Given the description of an element on the screen output the (x, y) to click on. 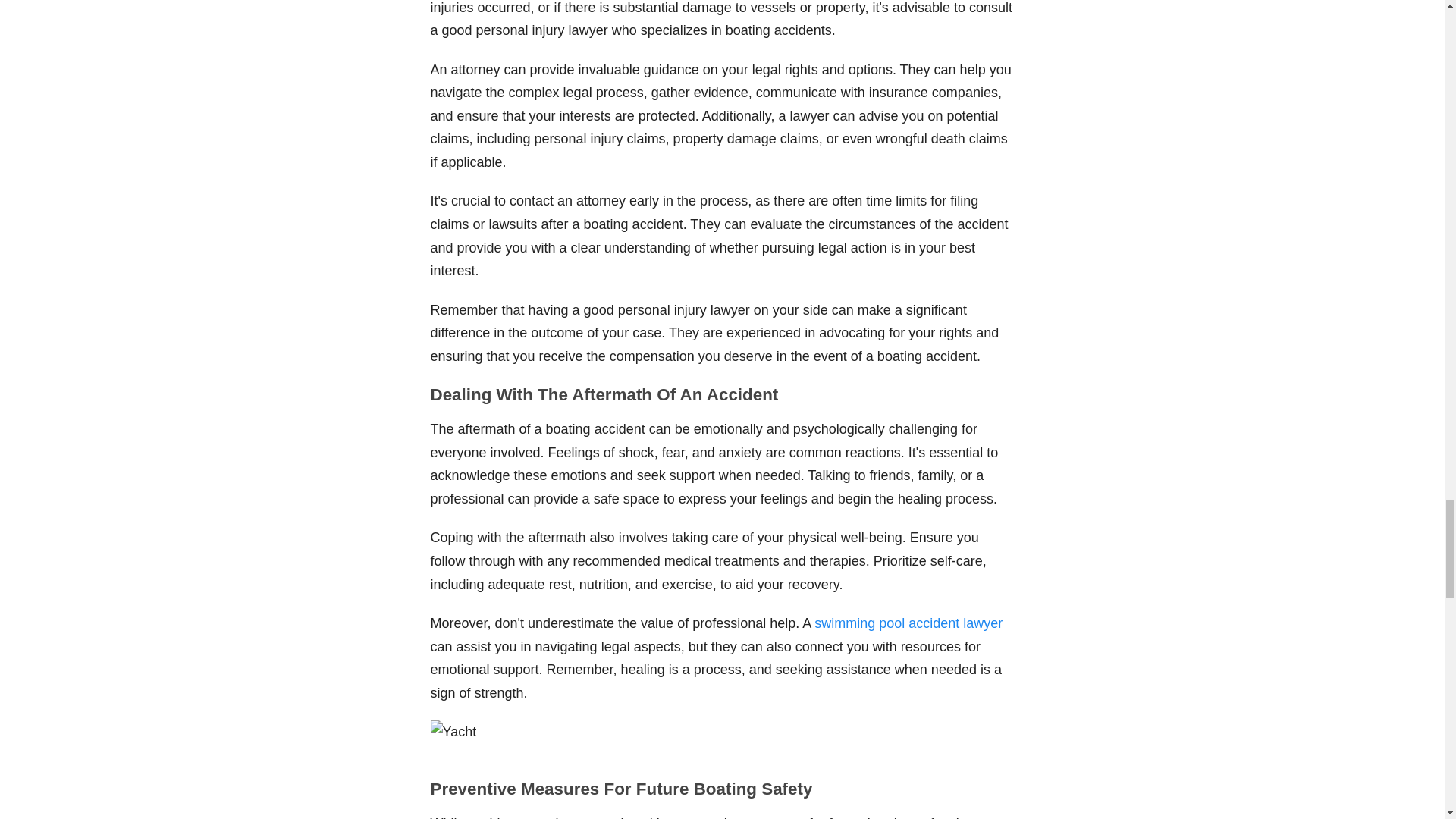
swimming pool accident lawyer (908, 622)
